Given the description of an element on the screen output the (x, y) to click on. 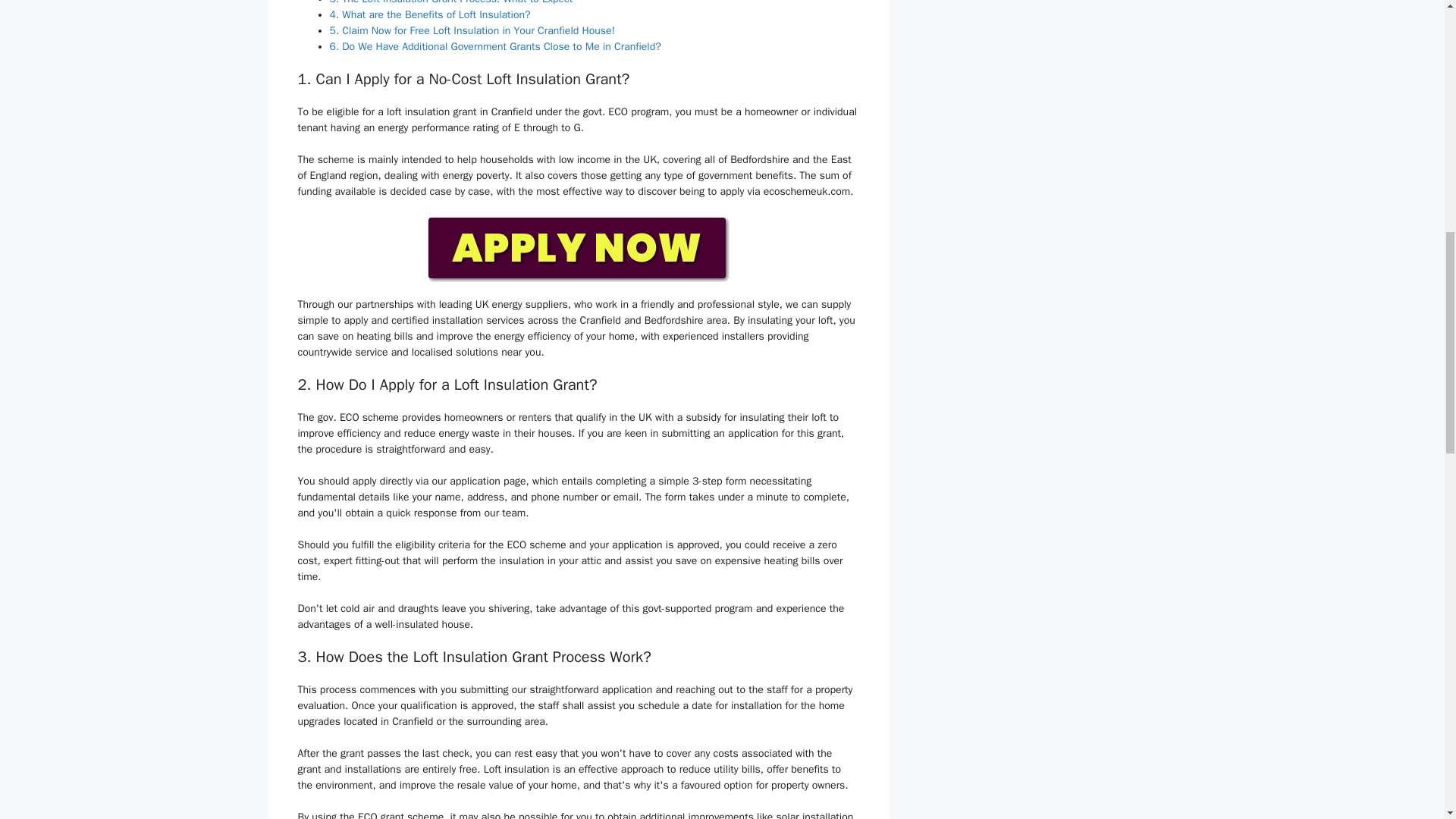
3. The Loft Insulation Grant Process: What to Expect (450, 2)
4. What are the Benefits of Loft Insulation? (429, 14)
